Given the description of an element on the screen output the (x, y) to click on. 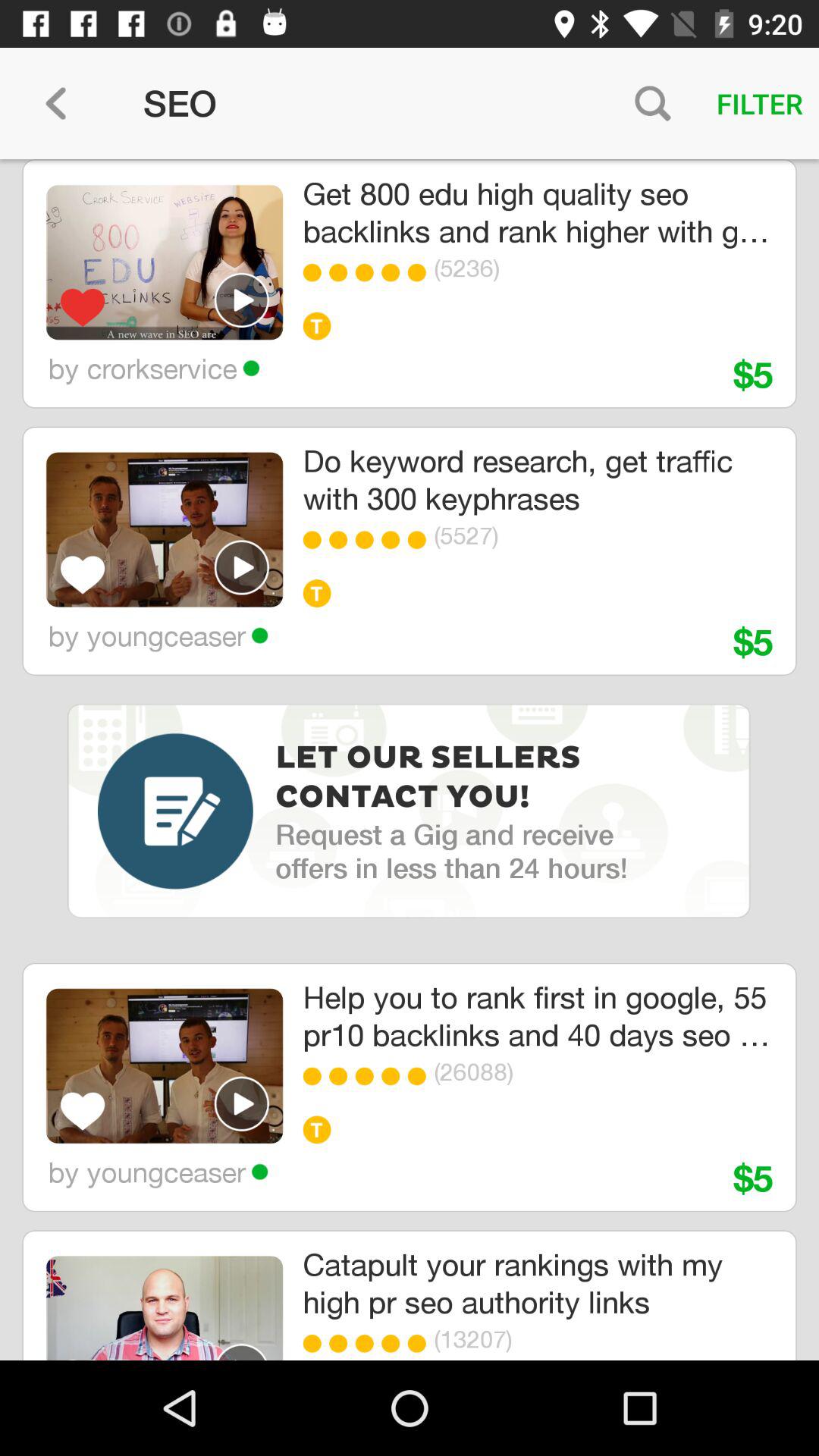
click by crorkservice (153, 368)
